Given the description of an element on the screen output the (x, y) to click on. 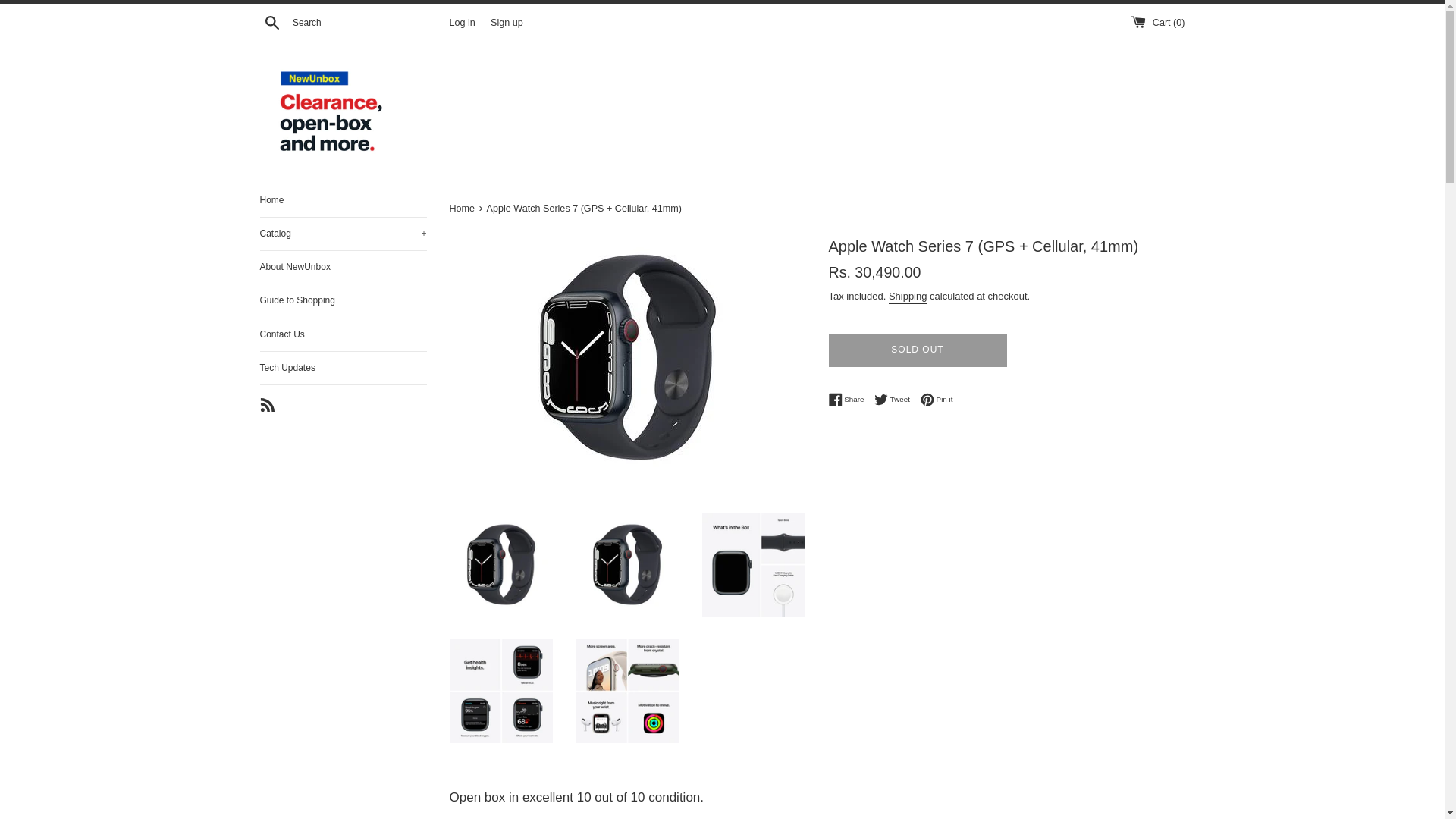
Guide to Shopping (342, 300)
Log in (461, 21)
SOLD OUT (896, 399)
Share on Facebook (849, 399)
Sign up (917, 349)
Home (849, 399)
Back to the frontpage (506, 21)
Shipping (342, 200)
Tech Updates (462, 208)
Search (936, 399)
Home (907, 296)
Pin on Pinterest (342, 368)
